Given the description of an element on the screen output the (x, y) to click on. 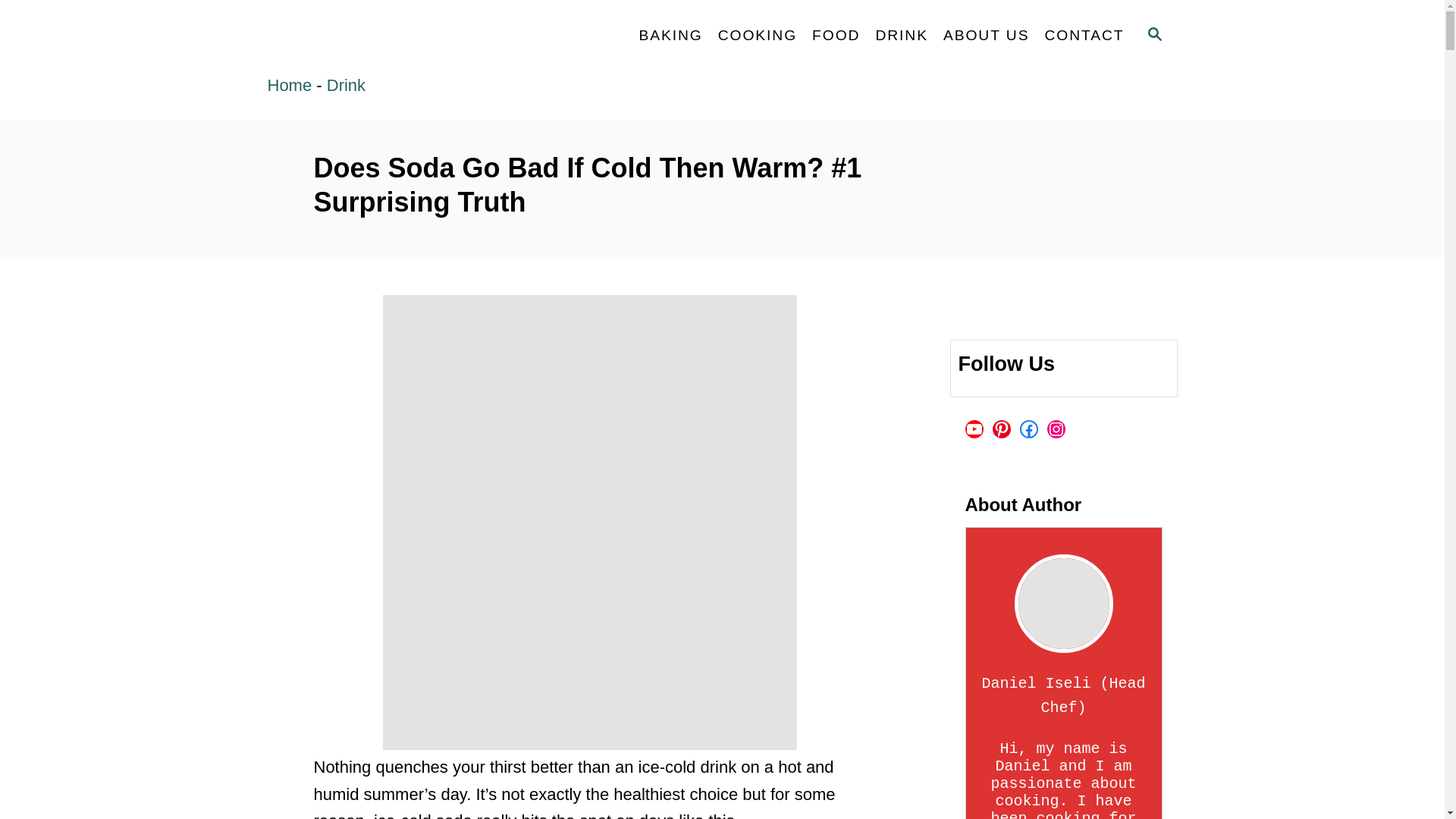
Drink (345, 85)
DRINK (901, 35)
BAKING (670, 35)
CONTACT (1083, 35)
FoodandFizz (1153, 35)
MAGNIFYING GLASS (403, 36)
Home (1153, 33)
COOKING (288, 85)
FOOD (757, 35)
